Given the description of an element on the screen output the (x, y) to click on. 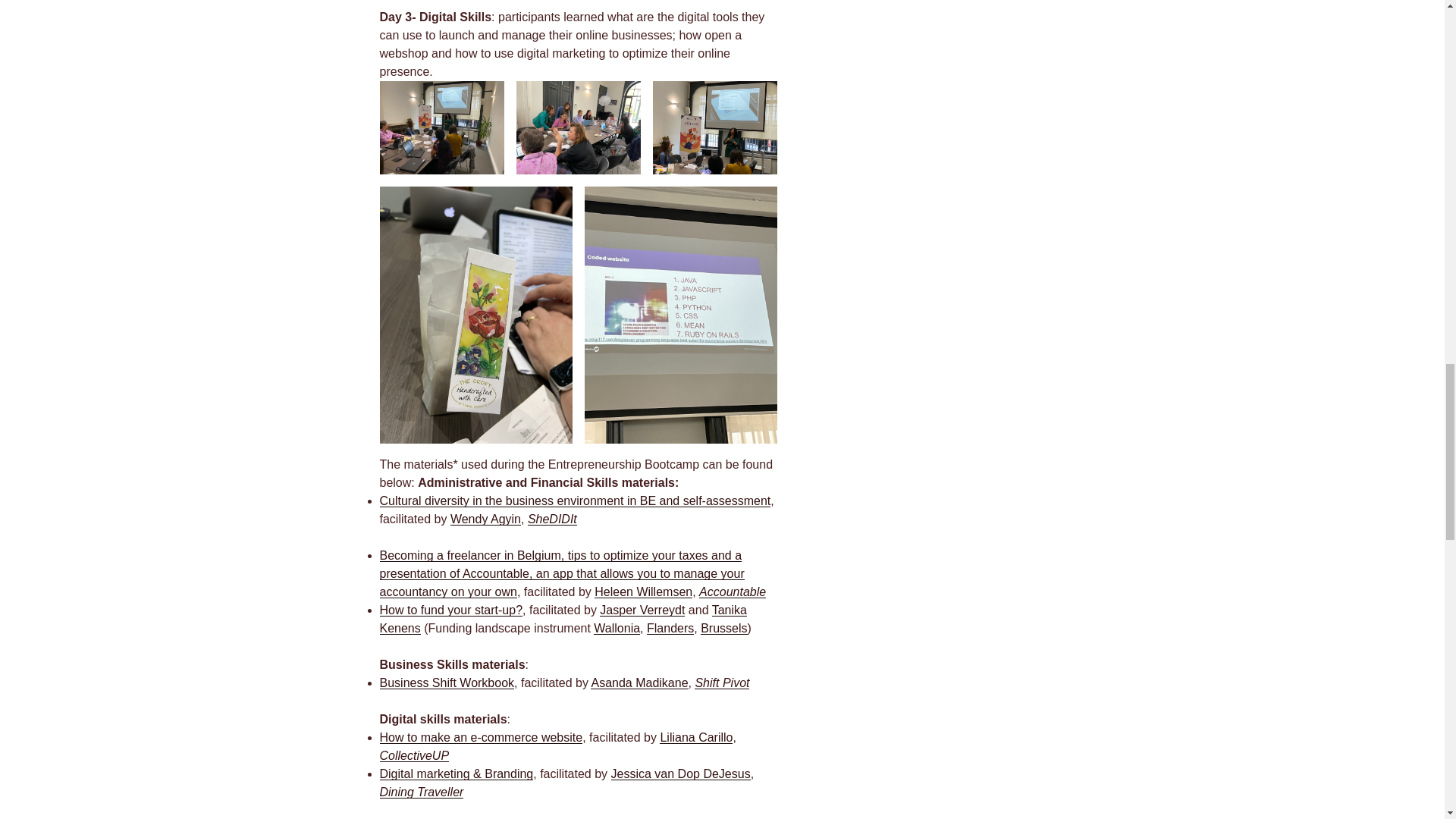
Jessica van Dop DeJesus (681, 773)
Liliana Carillo (695, 737)
Flanders (670, 627)
Asanda Madikane (639, 682)
Shift Pivot (721, 682)
Brussels (723, 627)
SheDIDIt (551, 518)
Accountable (731, 591)
How to make an e-commerce website (480, 737)
